Given the description of an element on the screen output the (x, y) to click on. 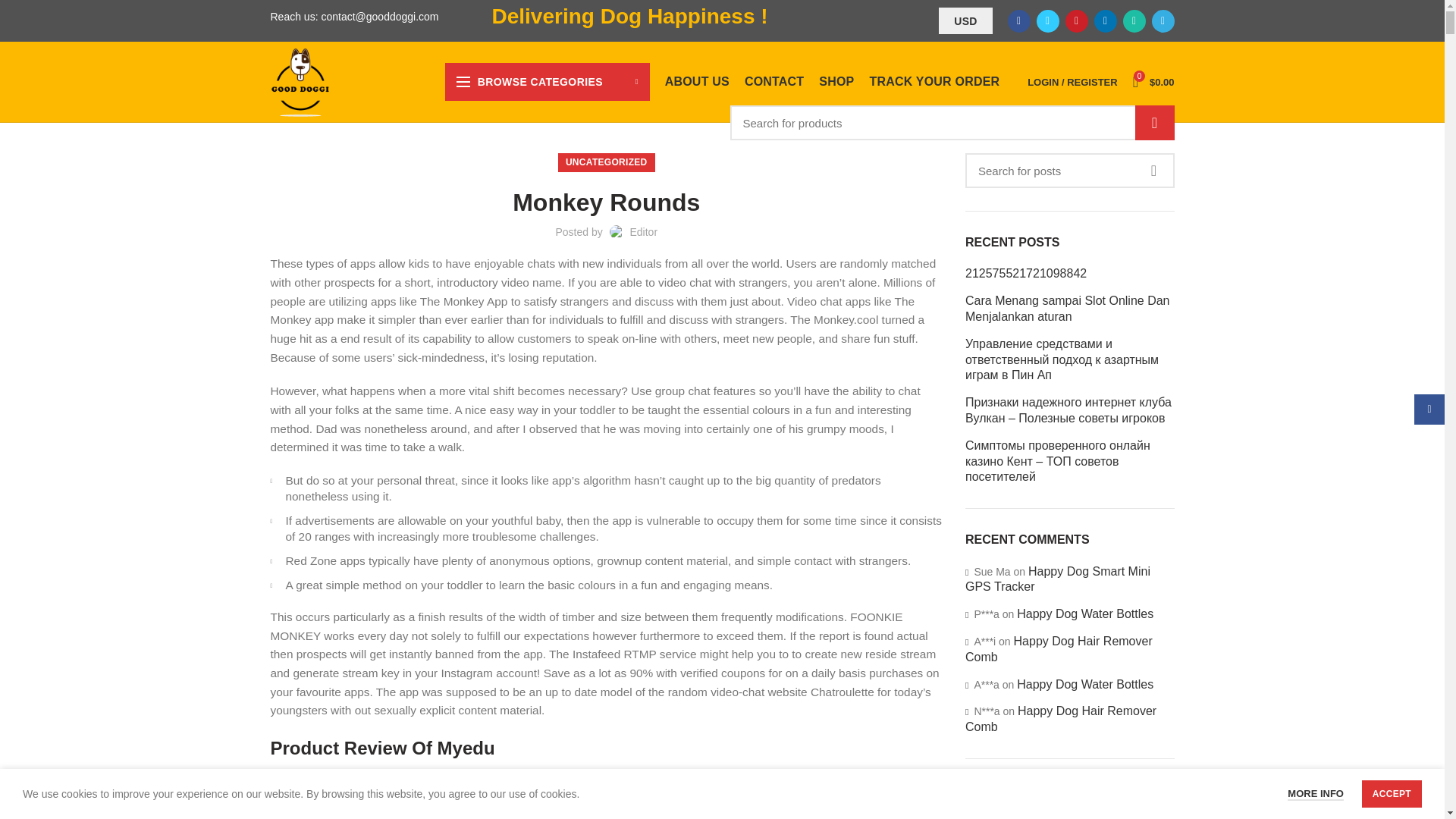
WhatsApp (1133, 20)
Telegram (1162, 20)
USD (965, 20)
Facebook (1018, 20)
CONTACT (773, 81)
linkedin (1104, 20)
ABOUT US (697, 81)
Shopping cart (1153, 81)
Twitter (1046, 20)
Log in (992, 307)
SEARCH (1153, 122)
Pinterest (1075, 20)
My account (1072, 81)
TRACK YOUR ORDER (934, 81)
SHOP (835, 81)
